Given the description of an element on the screen output the (x, y) to click on. 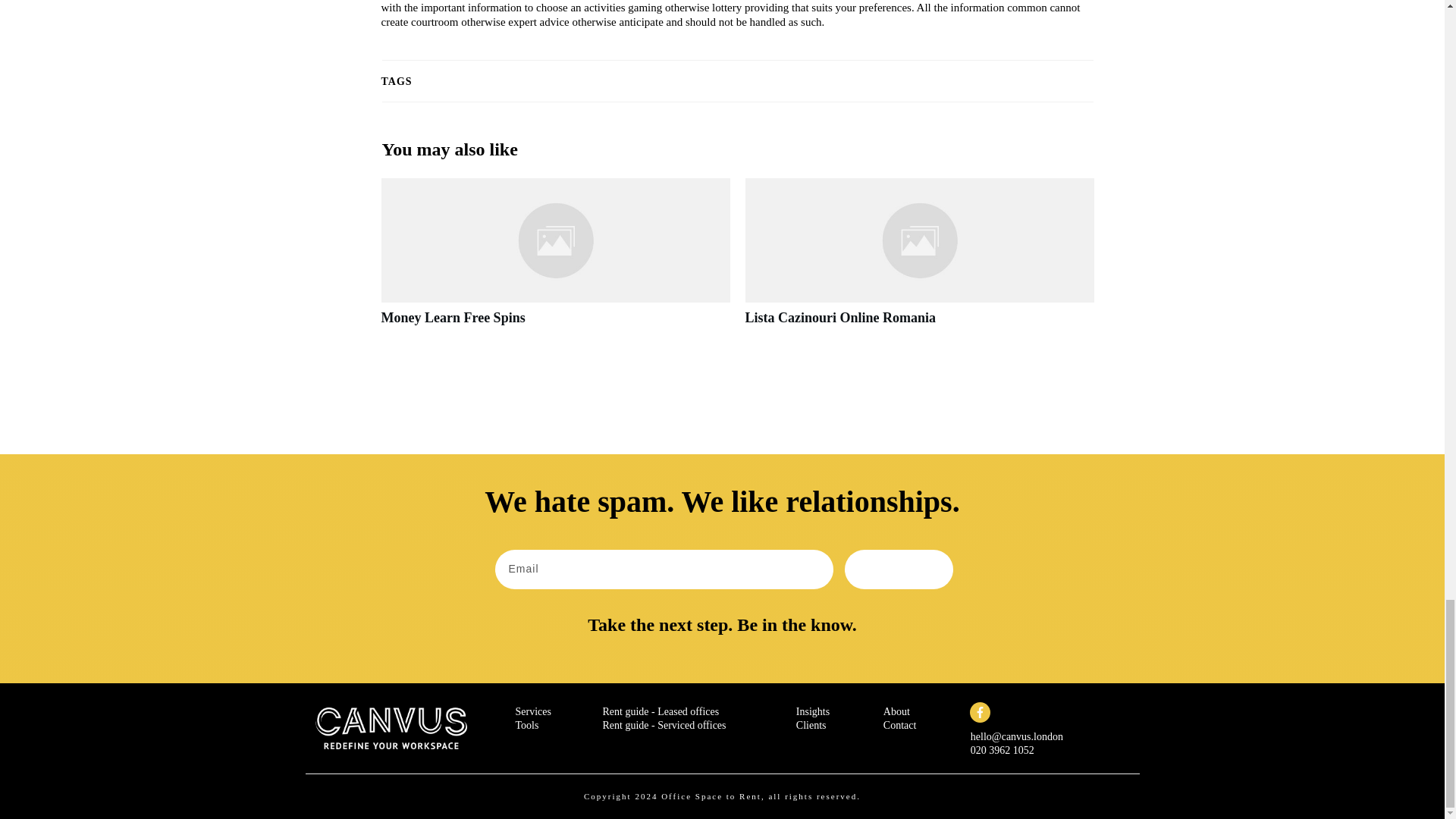
Lista Cazinouri Online Romania (840, 317)
Money Learn Free Spins (554, 260)
Services (533, 711)
Money Learn Free Spins (452, 317)
Money Learn Free Spins (452, 317)
Subscribe (898, 568)
canvus logo (391, 728)
Clients (811, 725)
About (896, 711)
Lista Cazinouri Online Romania (840, 317)
Insights (812, 711)
Rent guide - Serviced offices (663, 725)
Lista Cazinouri Online Romania (918, 260)
Rent guide - Leased offices (660, 711)
Tools (526, 725)
